Given the description of an element on the screen output the (x, y) to click on. 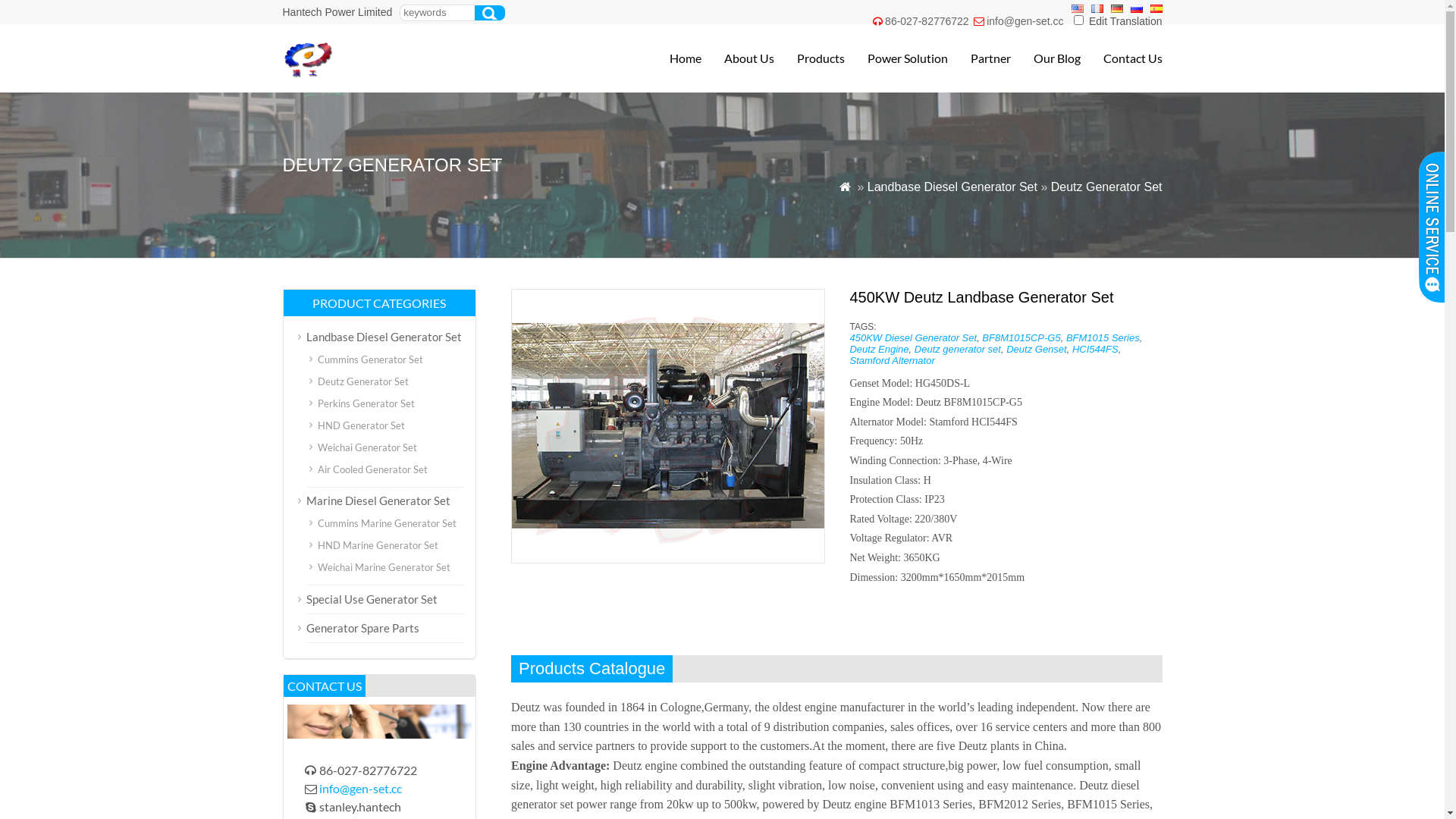
info@gen-set.cc Element type: text (360, 788)
1 Element type: text (1078, 20)
Special Use Generator Set Element type: text (371, 598)
450KW Diesel Generator Set Element type: text (912, 337)
Our Blog Element type: text (1044, 58)
Generator Spare Parts Element type: text (362, 627)
English Element type: hover (1076, 8)
HND Marine Generator Set Element type: text (376, 545)
Stamford Alternator Element type: text (891, 360)
Power Solution Element type: text (895, 58)
Deutsch Element type: hover (1116, 8)
Contact Us Element type: text (1120, 58)
Weichai Marine Generator Set Element type: text (382, 567)
Landbase Diesel Generator Set Element type: text (952, 186)
HCI544FS Element type: text (1095, 348)
Deutz generator set Element type: text (957, 348)
Partner Element type: text (978, 58)
Deutz Generator Set Element type: text (361, 381)
Cummins Generator Set Element type: text (369, 359)
Diesel Generator Set|Generator Set Manufacturer Element type: hover (387, 74)
Weichai Generator Set Element type: text (366, 447)
86-027-82776722 Element type: text (926, 21)
BFM1015 Series Element type: text (1102, 337)
Air Cooled Generator Set Element type: text (371, 469)
HND Generator Set Element type: text (360, 425)
Cummins Marine Generator Set Element type: text (385, 523)
Deutz Genset Element type: text (1036, 348)
Deutz Generator Set Element type: text (1106, 186)
Deutz Engine Element type: text (878, 348)
info@gen-set.cc Element type: text (1024, 21)
About Us Element type: text (736, 58)
BF8M1015CP-G5 Element type: text (1021, 337)
Perkins Generator Set Element type: text (365, 403)
Products Element type: text (808, 58)
Marine Diesel Generator Set Element type: text (378, 500)
Home Element type: text (673, 58)
Landbase Diesel Generator Set Element type: text (383, 336)
